Given the description of an element on the screen output the (x, y) to click on. 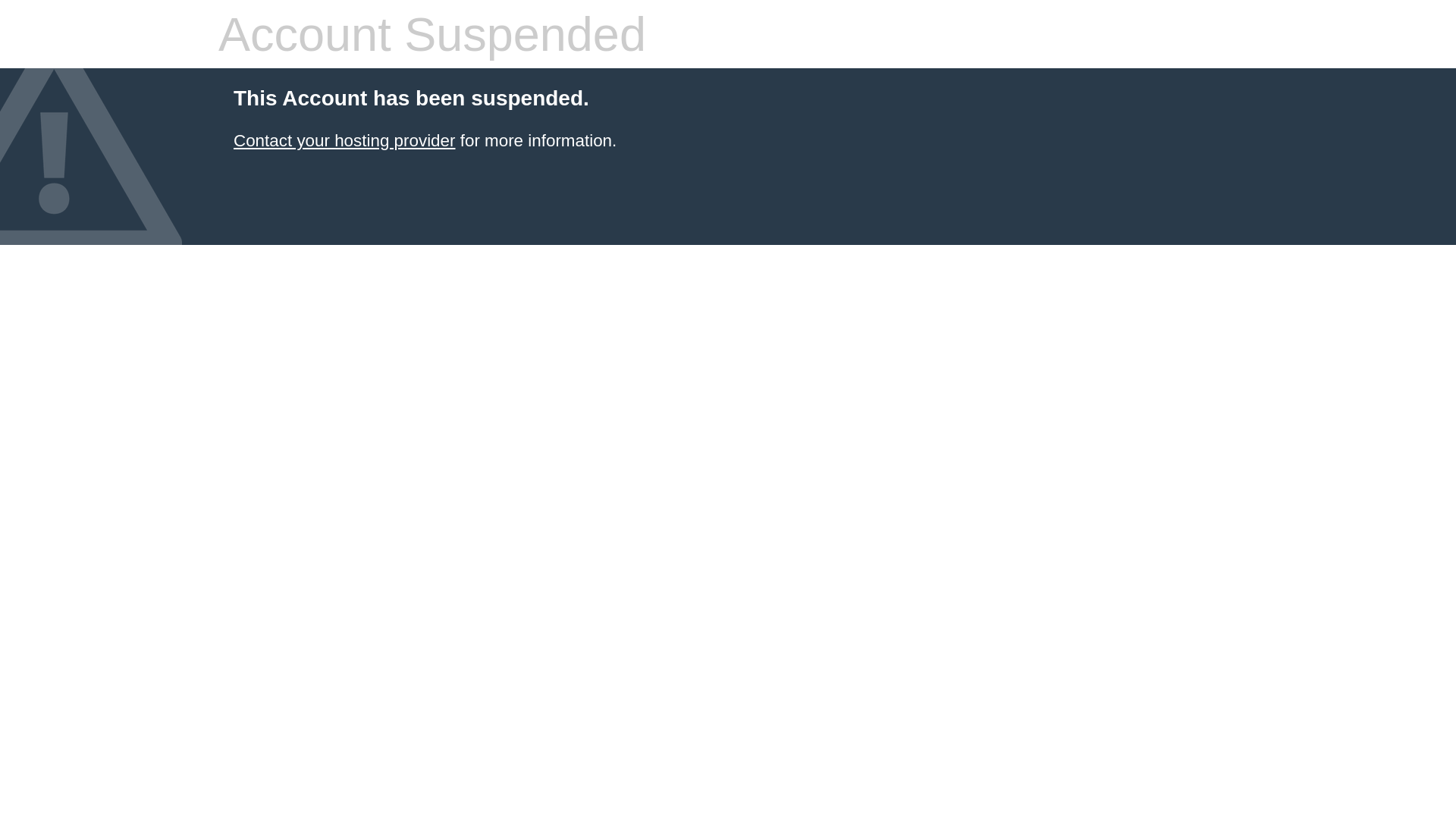
Contact your hosting provider Element type: text (344, 140)
